Given the description of an element on the screen output the (x, y) to click on. 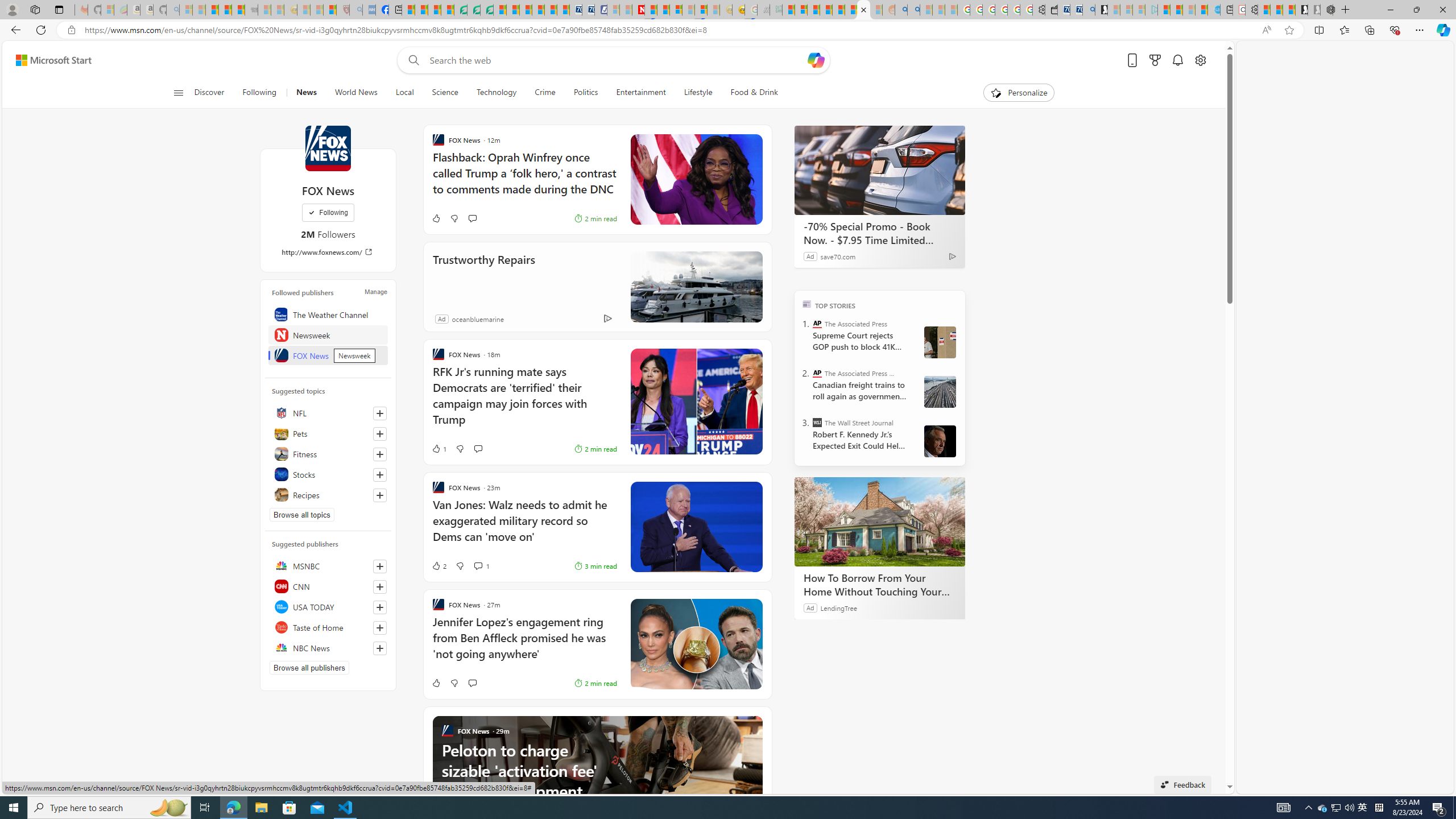
Stocks (327, 474)
NFL (327, 412)
The Weather Channel - MSN (212, 9)
